Given the description of an element on the screen output the (x, y) to click on. 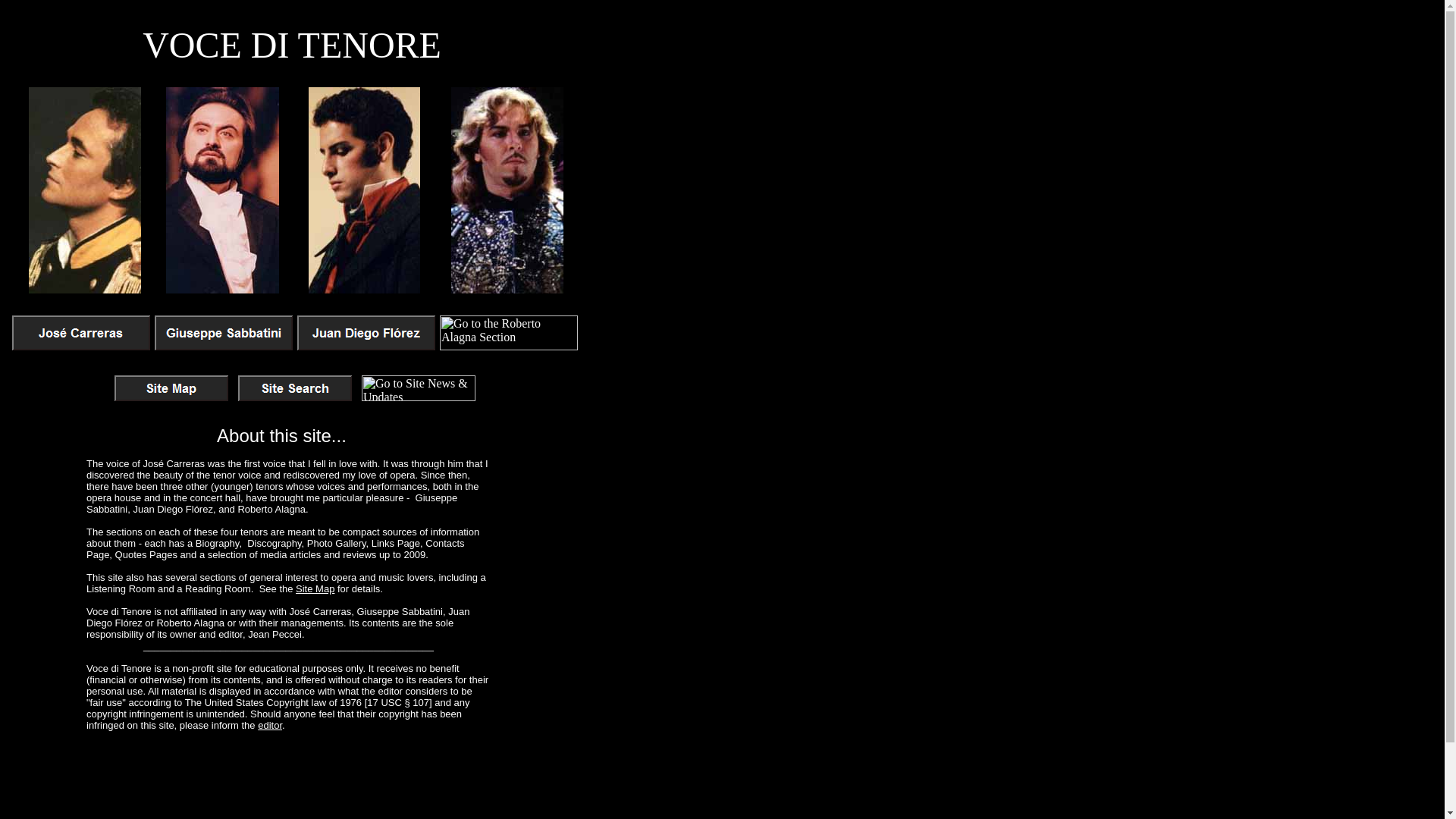
Site Map (314, 587)
editor (269, 724)
